Given the description of an element on the screen output the (x, y) to click on. 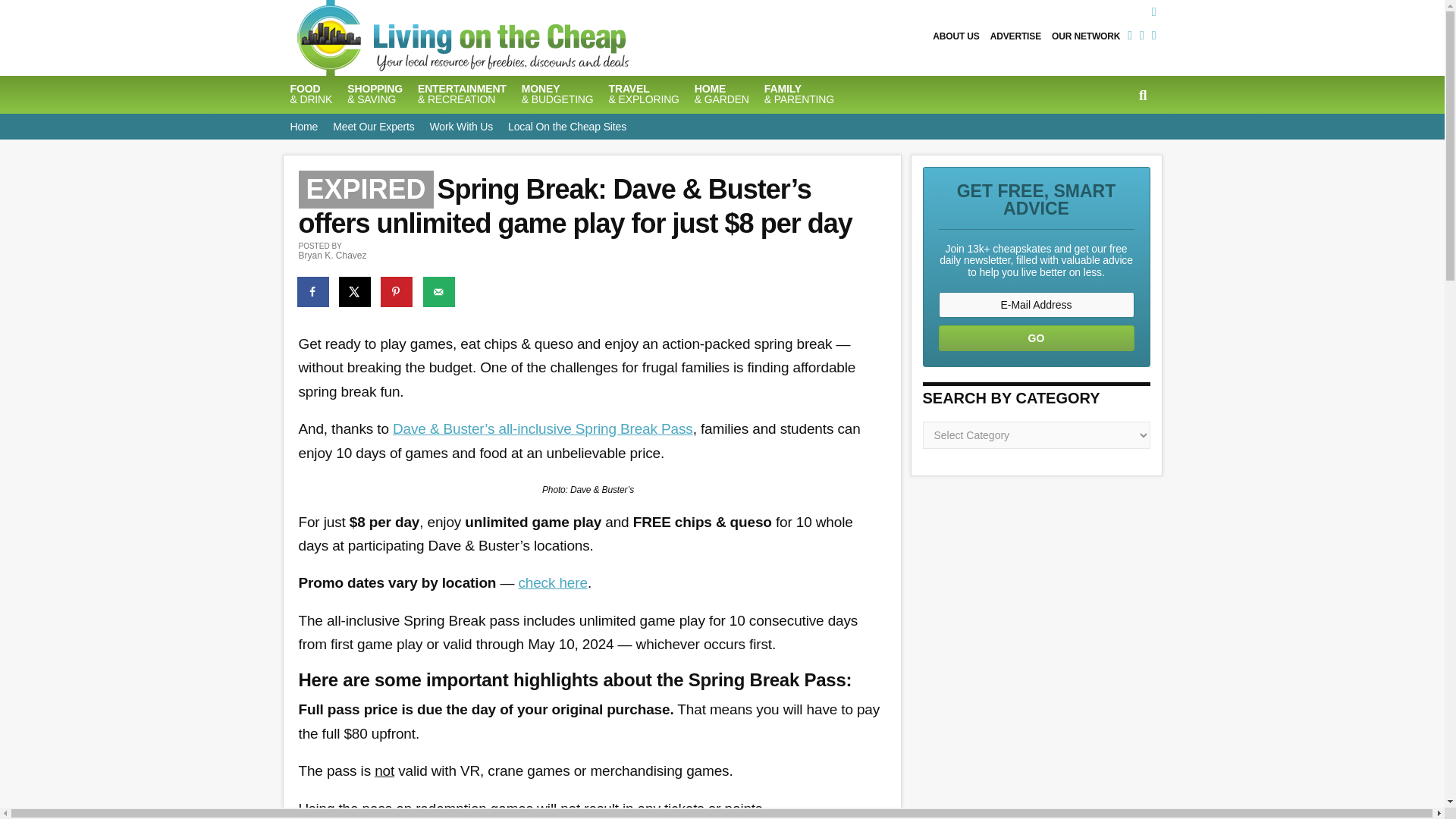
Send over email (439, 291)
Work With Us (461, 126)
Share on Facebook (313, 291)
ADVERTISE (1015, 36)
Save to Pinterest (396, 291)
Share on X (355, 291)
Home (303, 126)
Living On The Cheap (536, 38)
Go (1036, 338)
